Given the description of an element on the screen output the (x, y) to click on. 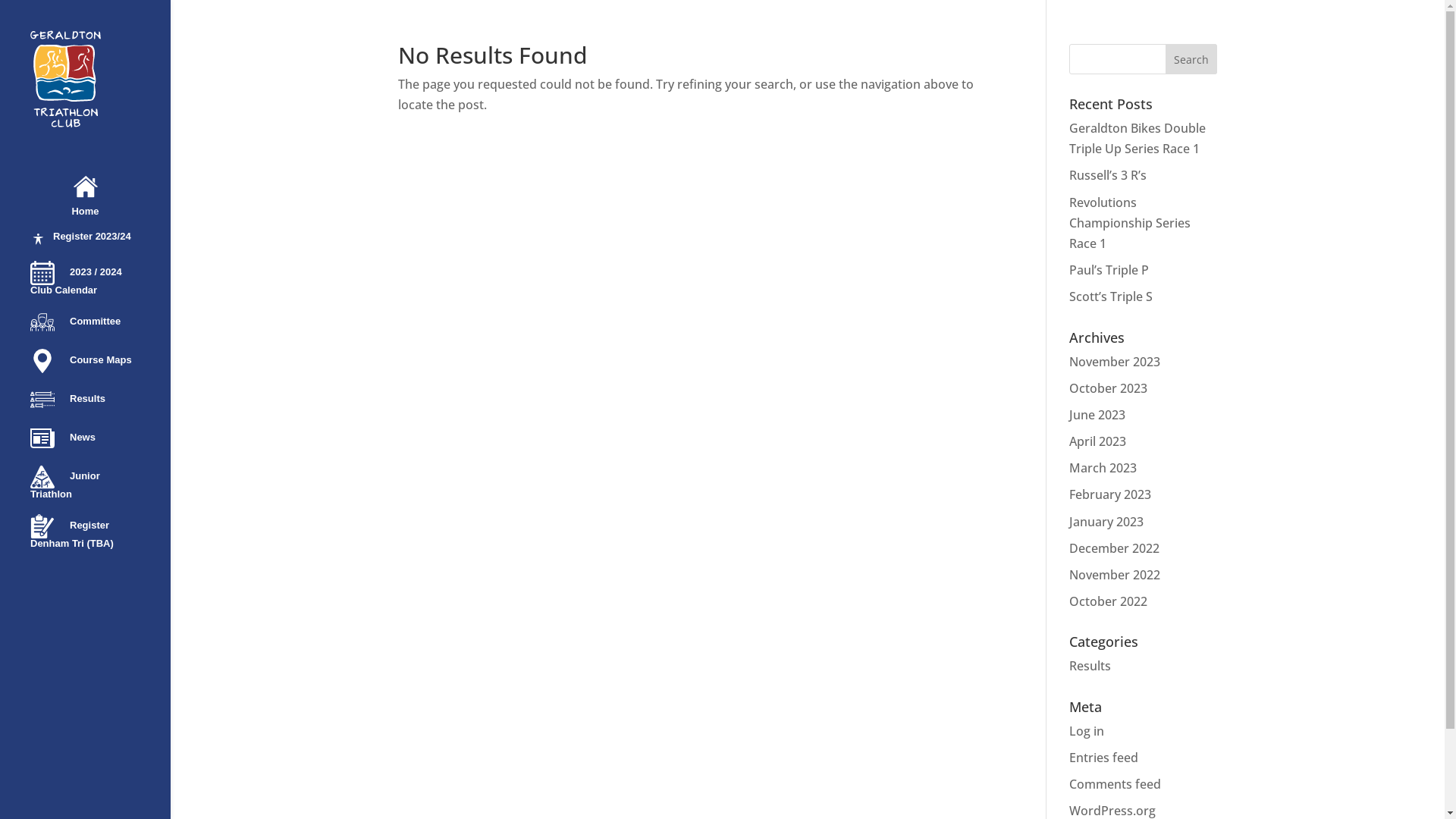
December 2022 Element type: text (1114, 547)
Register Denham Tri (TBA) Element type: text (100, 538)
November 2023 Element type: text (1114, 361)
Course Maps Element type: text (100, 367)
February 2023 Element type: text (1110, 494)
Junior Triathlon Element type: text (100, 489)
Geraldton Bikes Double Triple Up Series Race 1 Element type: text (1137, 137)
April 2023 Element type: text (1097, 441)
Register 2023/24 Element type: text (100, 245)
June 2023 Element type: text (1097, 414)
Results Element type: text (100, 406)
Log in Element type: text (1086, 730)
Results Element type: text (1089, 665)
Home Element type: text (100, 202)
Revolutions Championship Series Race 1 Element type: text (1129, 222)
Committee Element type: text (100, 329)
News Element type: text (100, 445)
Search Element type: text (1191, 58)
2023 / 2024 Club Calendar Element type: text (100, 285)
Entries feed Element type: text (1103, 757)
November 2022 Element type: text (1114, 574)
October 2022 Element type: text (1108, 601)
October 2023 Element type: text (1108, 387)
January 2023 Element type: text (1106, 521)
Comments feed Element type: text (1115, 783)
March 2023 Element type: text (1102, 467)
